Given the description of an element on the screen output the (x, y) to click on. 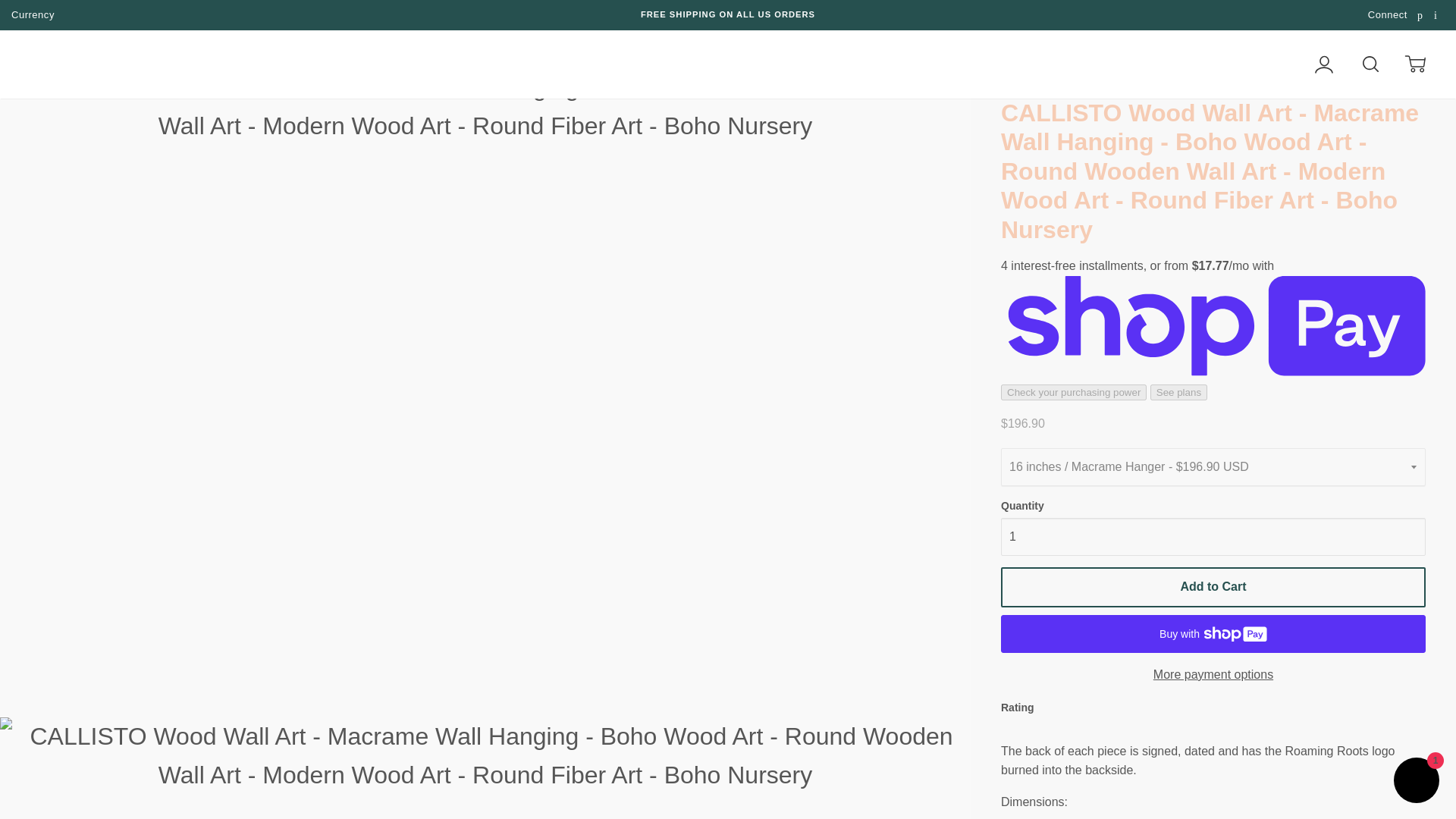
PINTEREST (1420, 14)
Shopify online store chat (1416, 781)
INSTAGRAM (1437, 14)
1 (1213, 536)
